Given the description of an element on the screen output the (x, y) to click on. 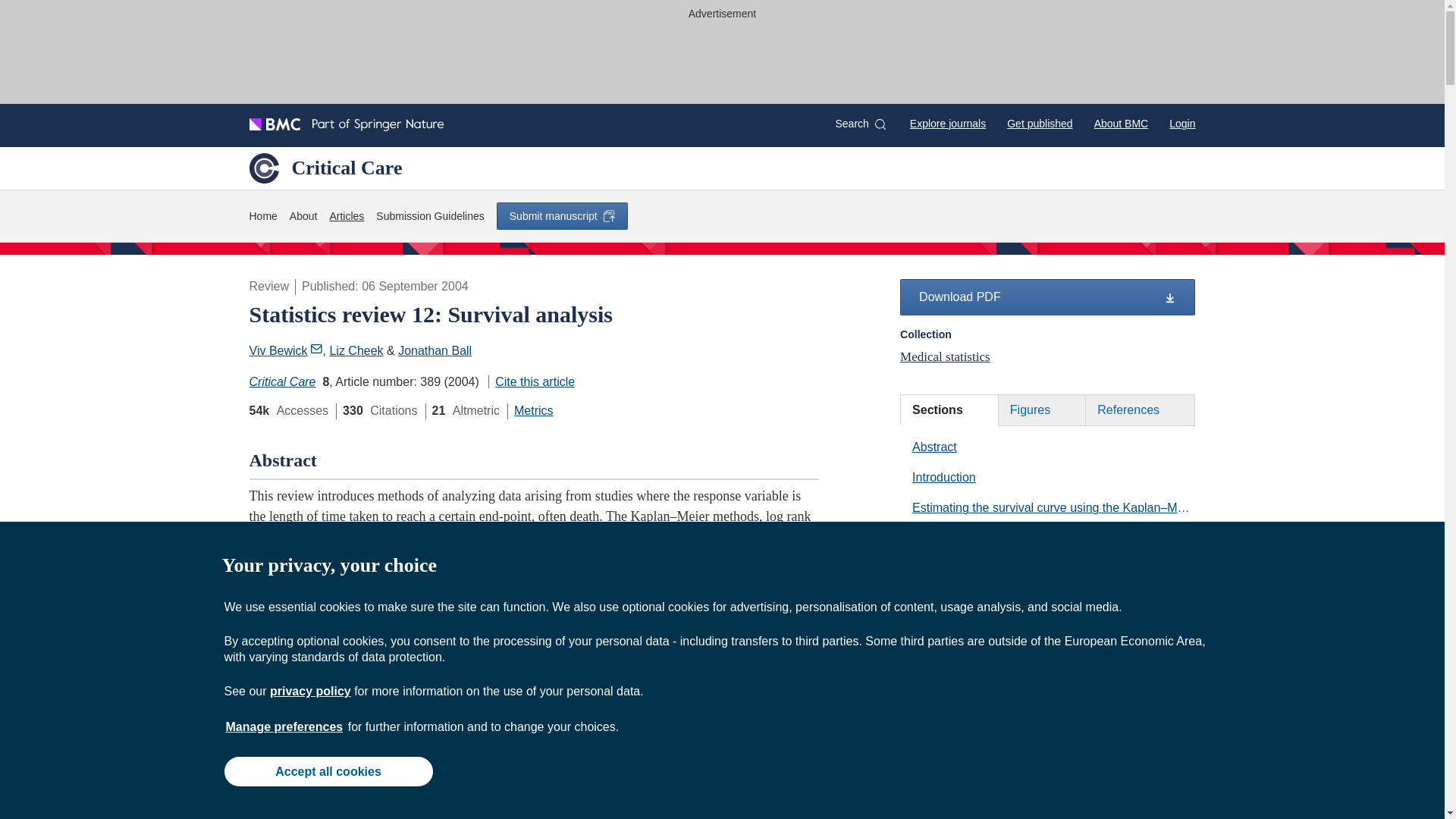
Submit manuscript (561, 216)
About BMC (1121, 123)
Manage preferences (284, 726)
Liz Cheek (355, 350)
Viv Bewick (284, 350)
Search (859, 123)
Home (262, 216)
privacy policy (309, 690)
Submission Guidelines (429, 216)
Get published (1039, 123)
